Given the description of an element on the screen output the (x, y) to click on. 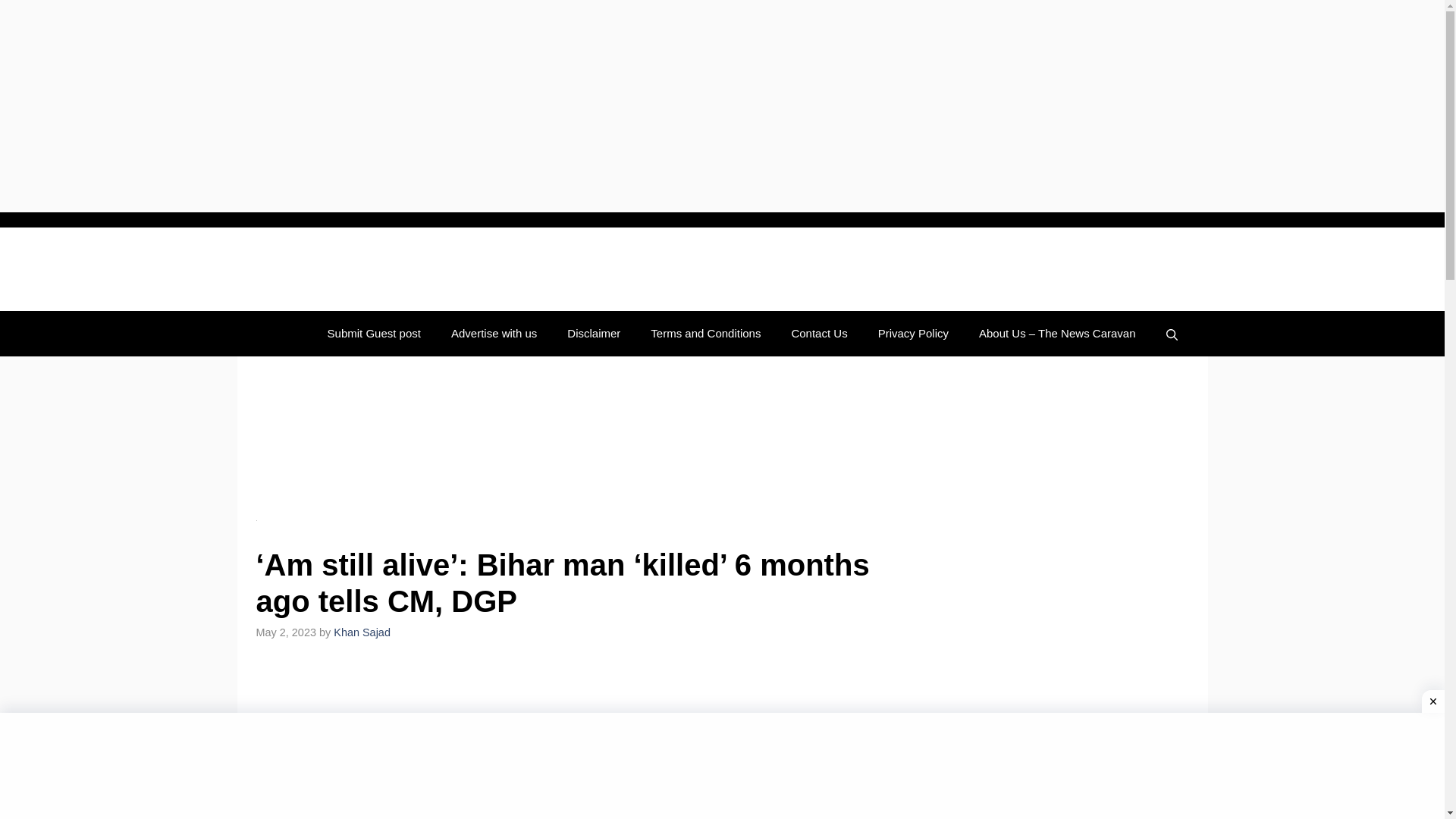
Advertise with us (493, 333)
Terms and Conditions (705, 333)
Contact Us (818, 333)
Privacy Policy (913, 333)
The News Caravan (350, 269)
Submit Guest post (374, 333)
Advertisement (583, 438)
Advertisement (583, 743)
Disclaimer (592, 333)
